Given the description of an element on the screen output the (x, y) to click on. 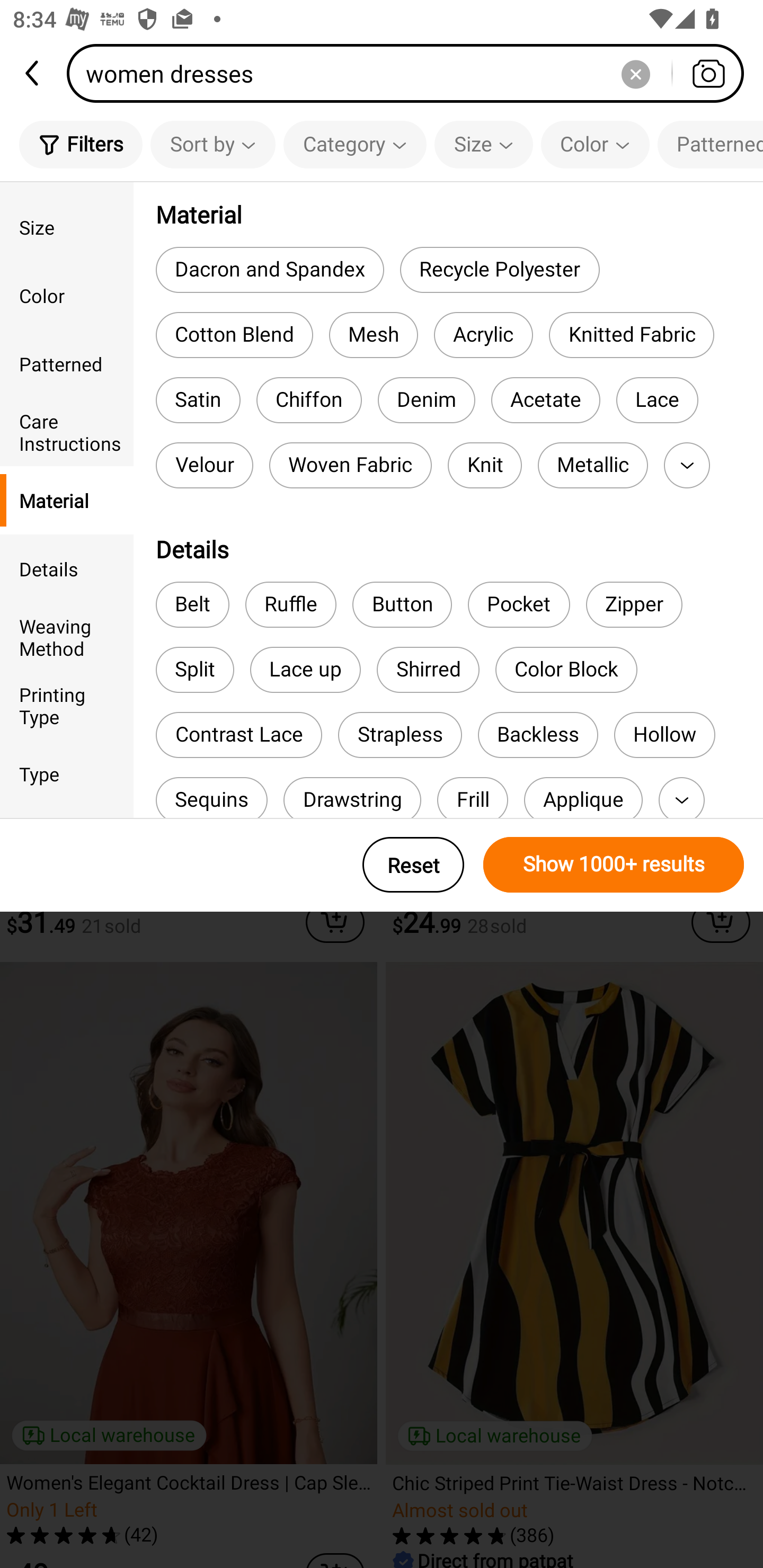
back (33, 72)
women dresses (411, 73)
Delete search history (635, 73)
Search by photo (708, 73)
Filters (80, 143)
Sort by (212, 143)
Category (354, 143)
Size (483, 143)
Color (594, 143)
Patterned (710, 143)
Size (66, 226)
Dacron and Spandex (269, 269)
Recycle Polyester (499, 269)
Color (66, 295)
Cotton Blend (233, 334)
Mesh (373, 334)
Acrylic (483, 334)
Knitted Fabric (631, 334)
Patterned (66, 363)
Satin (197, 400)
Chiffon (308, 400)
Denim (426, 400)
Acetate (545, 400)
Lace (657, 400)
Care Instructions (66, 431)
Velour (204, 464)
Woven Fabric (350, 464)
Knit (484, 464)
Metallic (592, 464)
More (686, 464)
Material (66, 499)
Details (66, 568)
Belt (192, 604)
Ruffle (290, 604)
Button (401, 604)
Pocket (518, 604)
Zipper (633, 604)
Weaving Method (66, 636)
Split (194, 669)
Lace up (305, 669)
Shirred (427, 669)
Color Block (566, 669)
Printing Type (66, 705)
Contrast Lace (238, 734)
Strapless (400, 734)
Backless (537, 734)
Hollow (664, 734)
Type (66, 773)
Sequins (211, 797)
Drawstring (352, 797)
Frill (472, 797)
Applique (583, 797)
More (681, 797)
Reset (412, 864)
Show 1000+ results (612, 864)
